Given the description of an element on the screen output the (x, y) to click on. 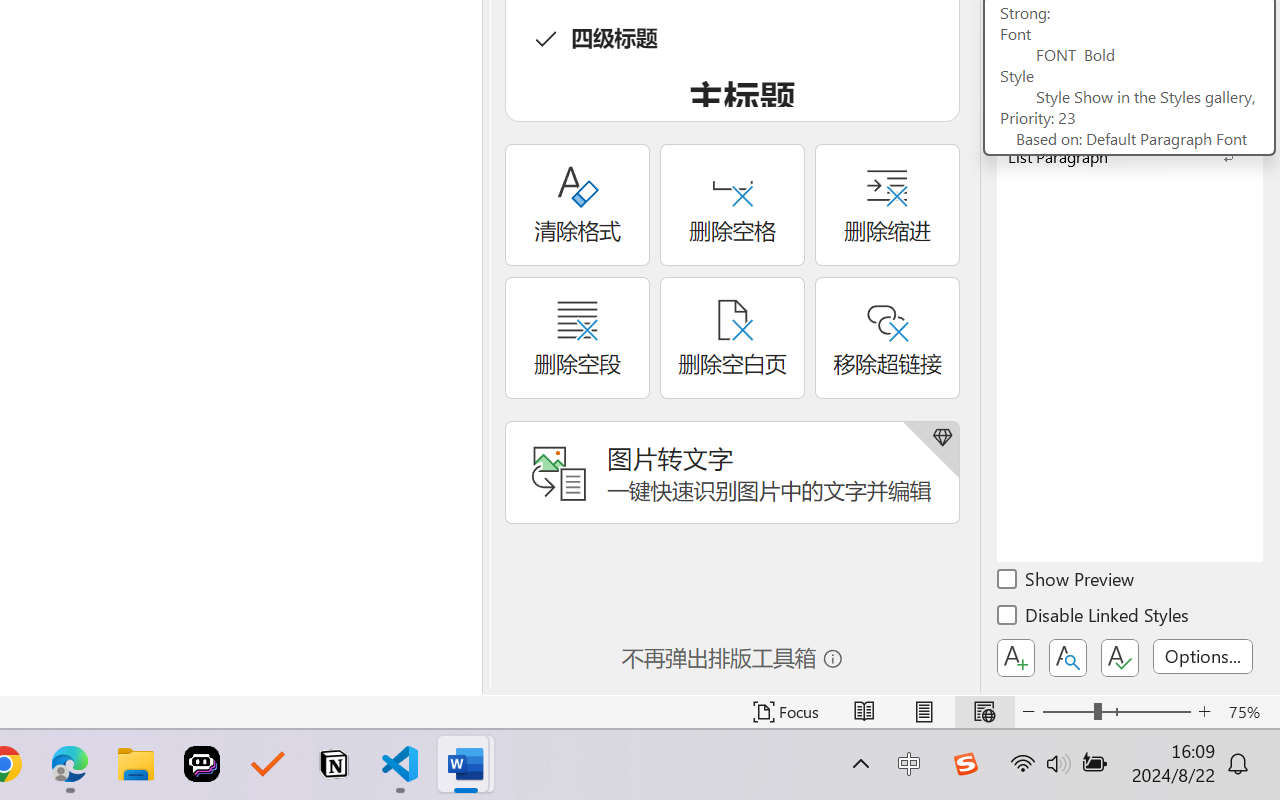
Intense Reference (1130, 92)
